Given the description of an element on the screen output the (x, y) to click on. 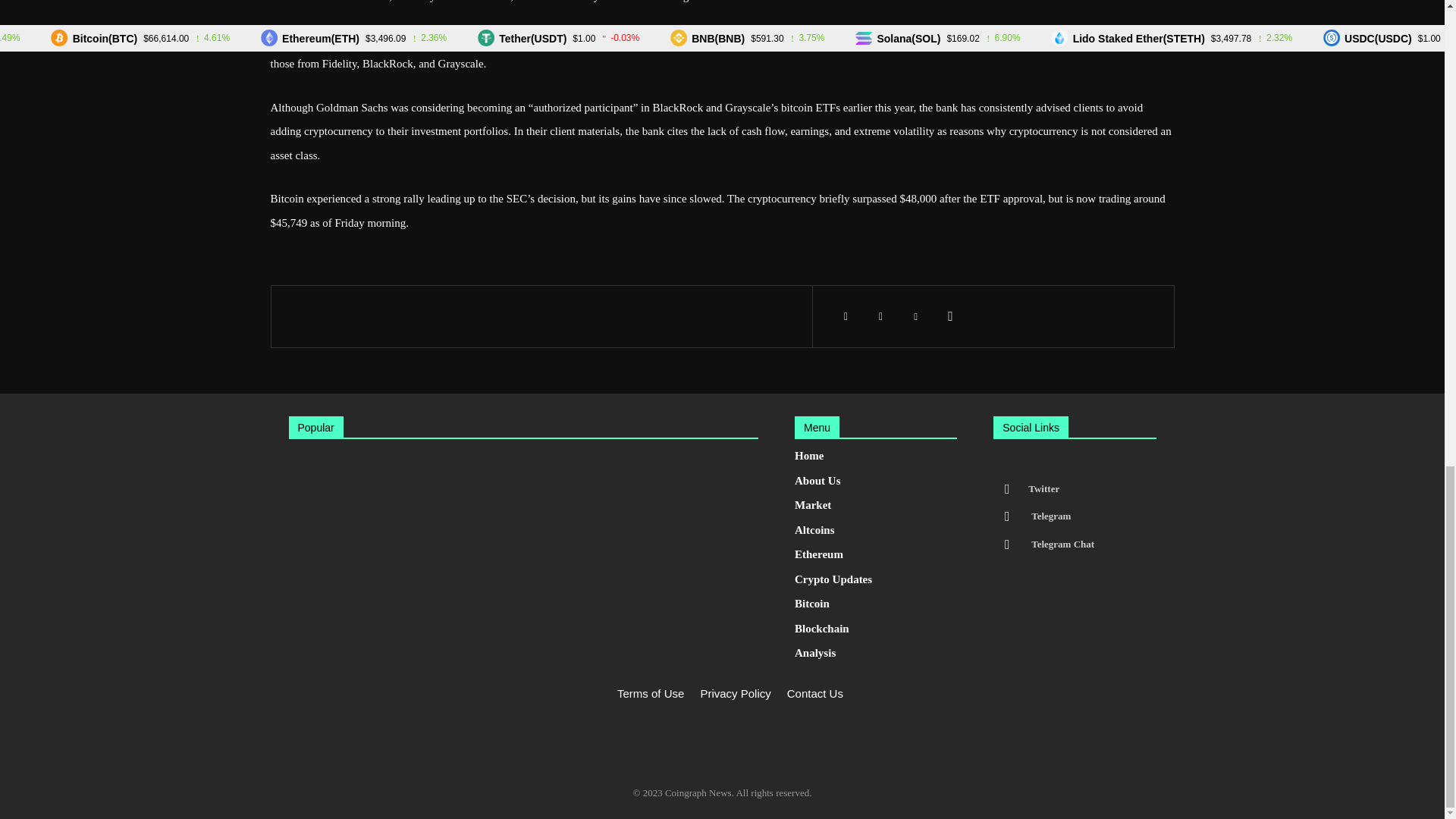
WhatsApp (951, 316)
Twitter (881, 316)
Facebook (846, 316)
Pinterest (916, 316)
